Given the description of an element on the screen output the (x, y) to click on. 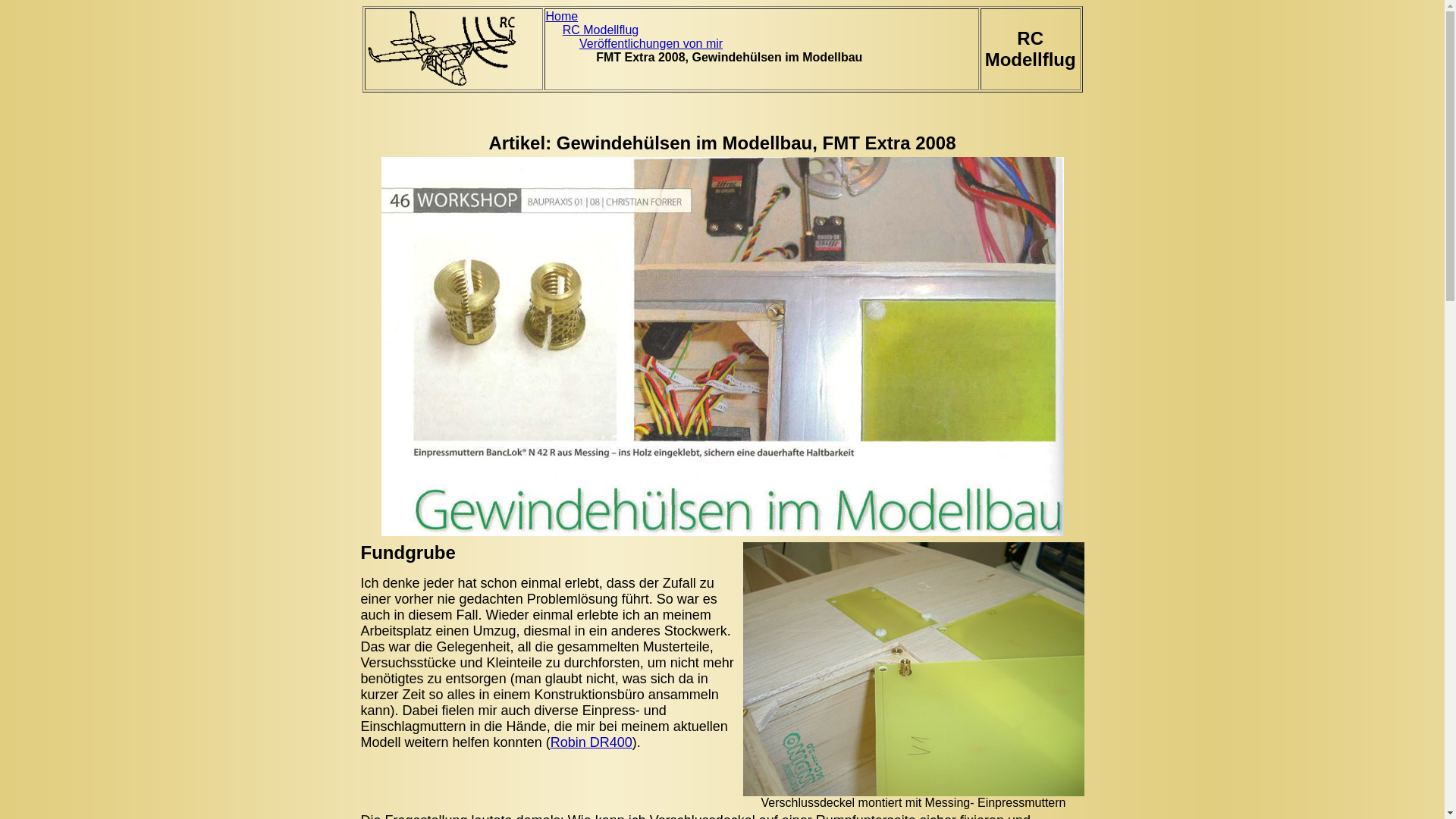
RC Modellflug Element type: text (600, 29)
Artikel Element type: text (516, 142)
Home Element type: text (562, 15)
Robin DR400 Element type: text (591, 741)
